Given the description of an element on the screen output the (x, y) to click on. 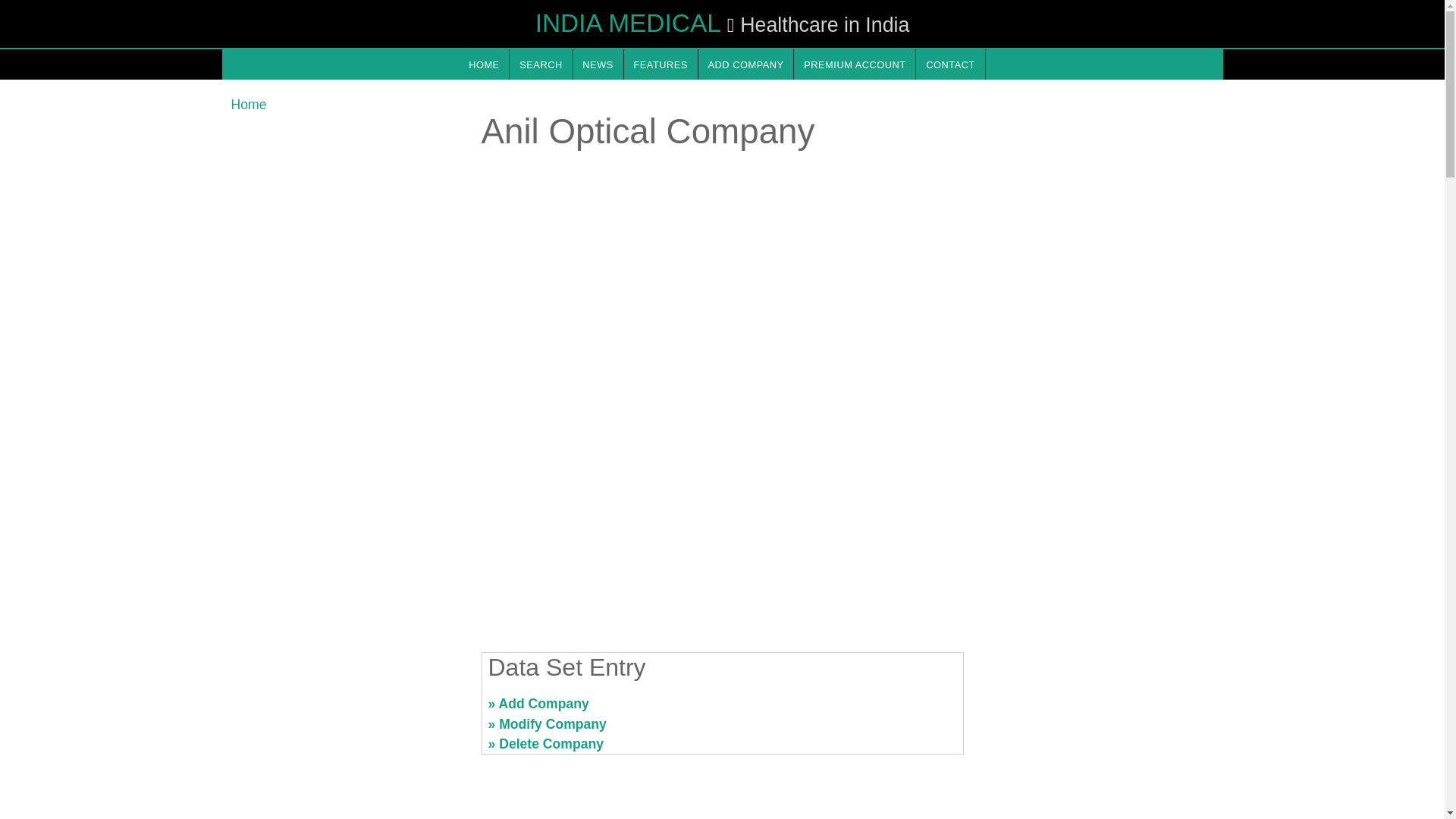
Premium account (854, 64)
HOME (483, 64)
PREMIUM ACCOUNT (854, 64)
NEWS (598, 64)
Home (248, 104)
Advertisement (721, 522)
Advertisement (1096, 710)
SEARCH (540, 64)
Search in this webseite. (540, 64)
Advertisement (346, 710)
FEATURES (660, 64)
ADD COMPANY (745, 64)
CONTACT (949, 64)
Add a new company (745, 64)
